Given the description of an element on the screen output the (x, y) to click on. 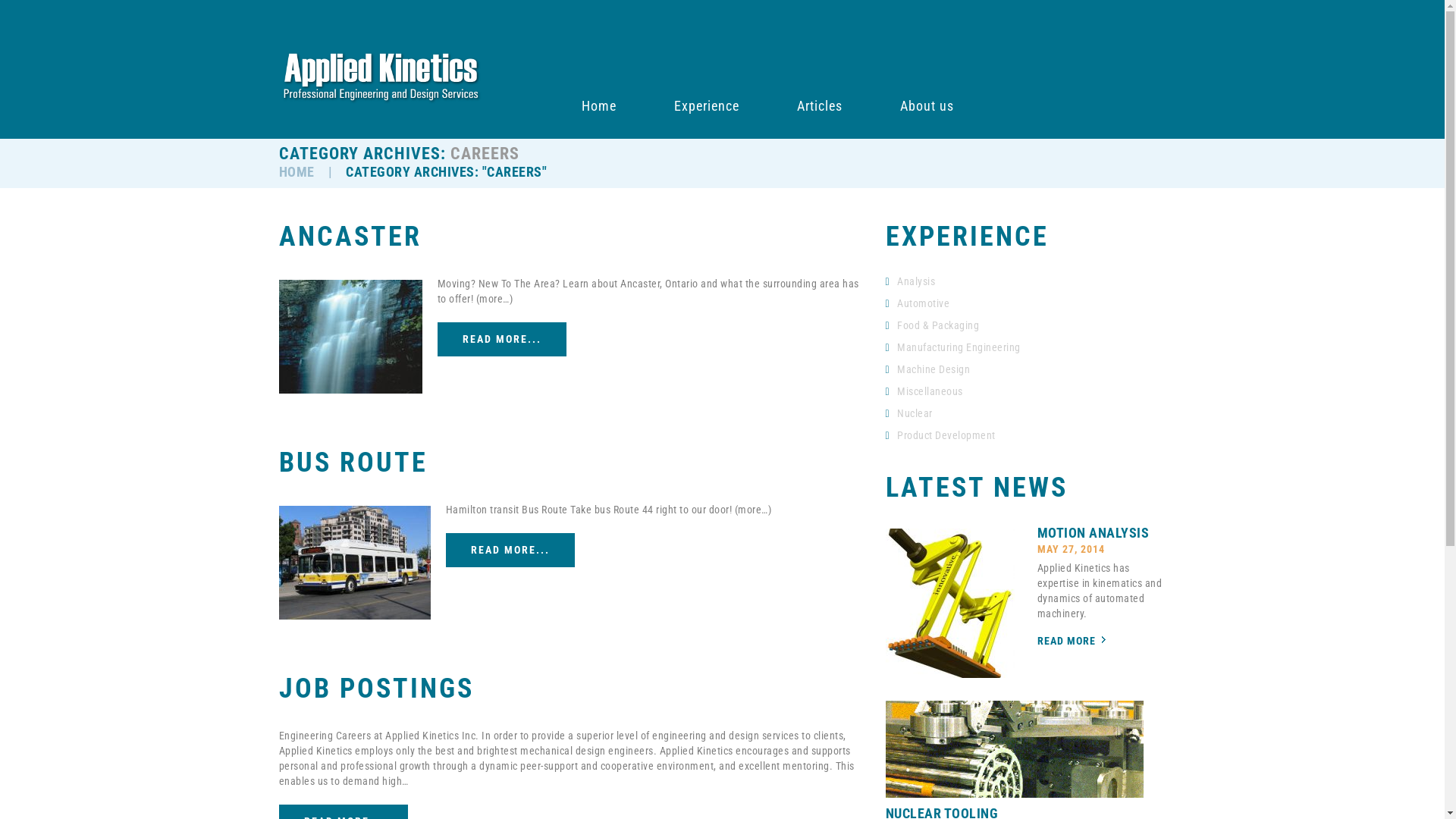
Home Element type: text (598, 105)
Articles Element type: text (819, 105)
Automotive Element type: text (923, 303)
Product Development Element type: text (946, 435)
Analysis Element type: text (916, 281)
READ MORE... Element type: text (500, 339)
Manufacturing Engineering Element type: text (958, 347)
Bus Route Element type: hover (354, 562)
Nuclear Element type: text (914, 413)
ANCASTER Element type: text (350, 236)
BUS ROUTE Element type: text (353, 462)
Nuclear Tooling Element type: hover (1014, 748)
Experience Element type: text (706, 105)
Machine Design Element type: text (933, 369)
Motion Analysis Element type: hover (949, 602)
HOME Element type: text (296, 171)
Professional Engineering and Design Services Element type: hover (381, 77)
MOTION ANALYSIS Element type: text (1093, 532)
READ MORE... Element type: text (509, 550)
JOB POSTINGS Element type: text (376, 688)
Food & Packaging Element type: text (938, 325)
READ MORE Element type: text (1066, 640)
Miscellaneous Element type: text (930, 391)
Ancaster Element type: hover (350, 336)
About us Element type: text (926, 105)
